Given the description of an element on the screen output the (x, y) to click on. 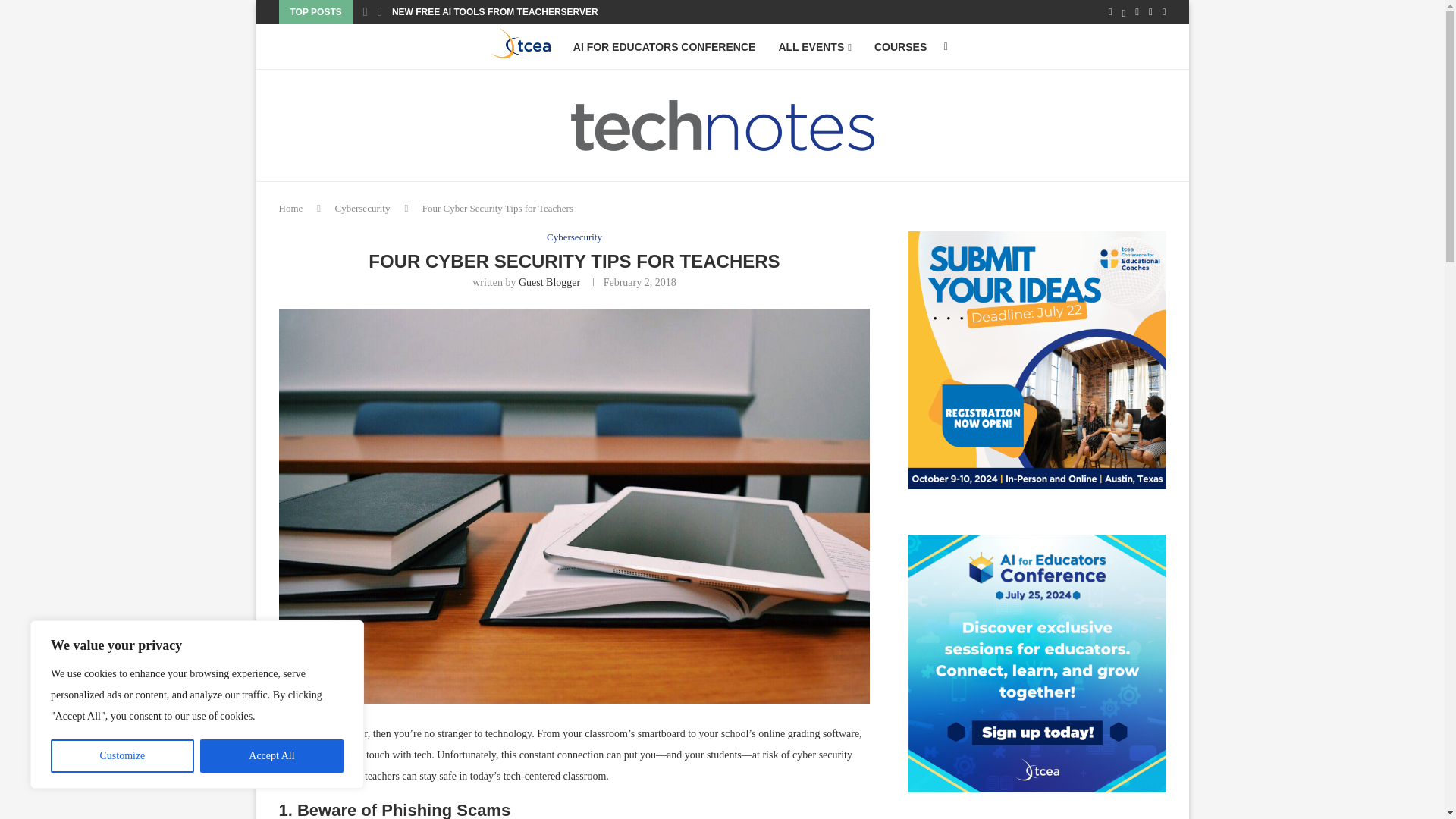
NEW FREE AI TOOLS FROM TEACHERSERVER (494, 12)
Accept All (271, 756)
Customize (121, 756)
